Given the description of an element on the screen output the (x, y) to click on. 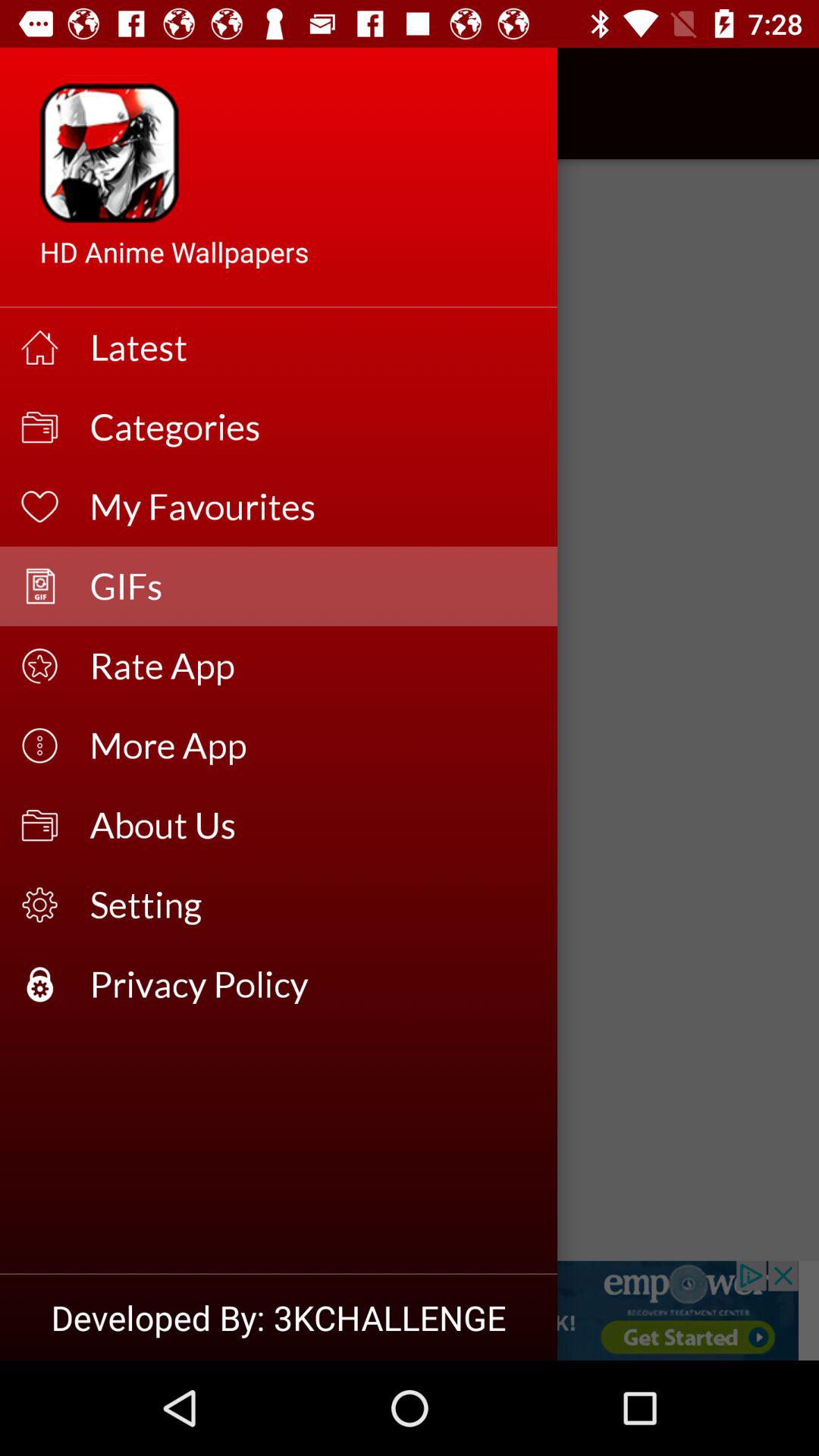
turn off the icon above rate app icon (313, 586)
